Given the description of an element on the screen output the (x, y) to click on. 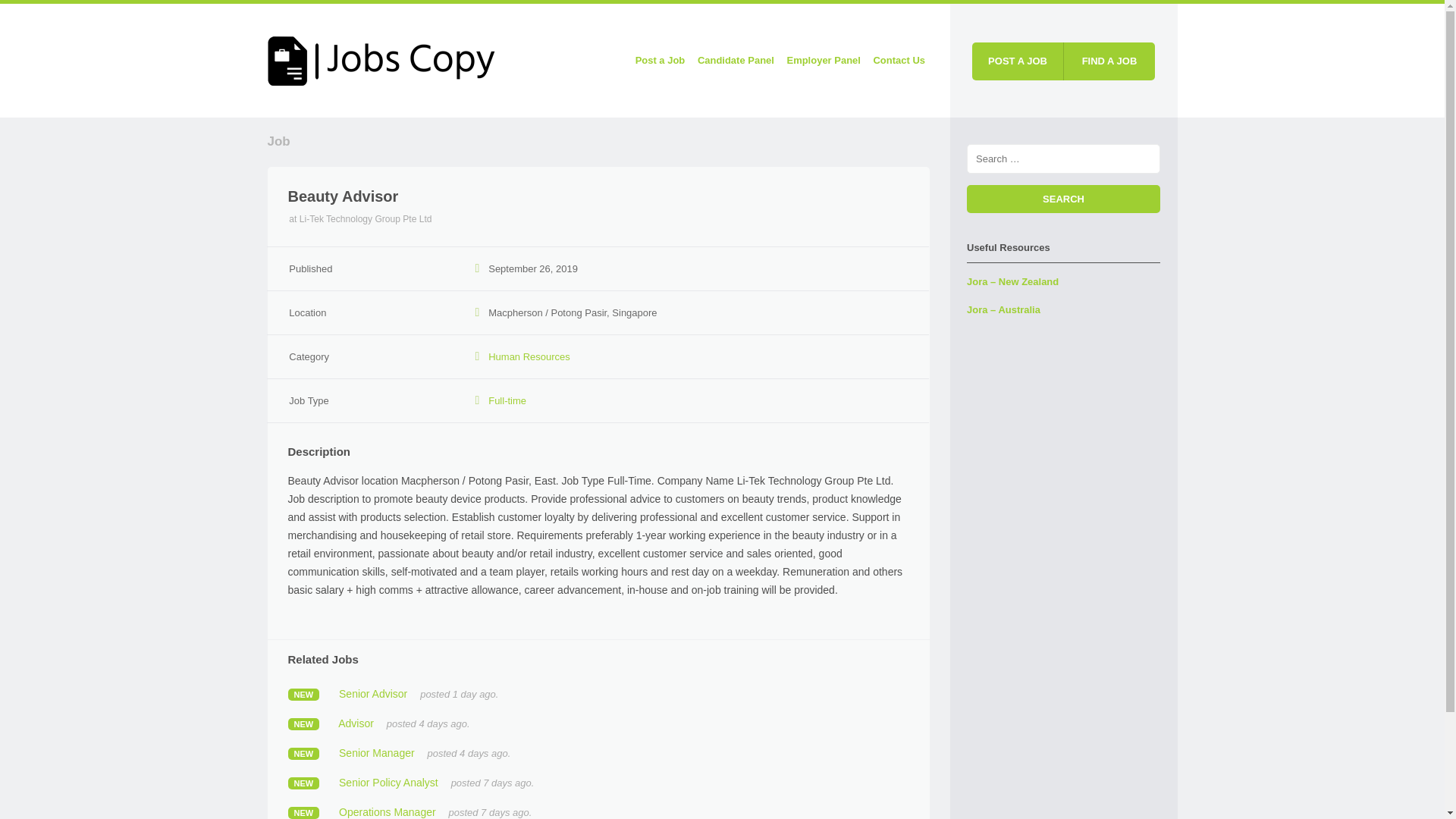
Candidate Panel (735, 60)
Full-time (506, 400)
Employer Panel (822, 60)
Jobs Copy (380, 58)
Senior Advisor (373, 693)
Advisor (355, 723)
Skip to content (587, 60)
Operations Manager (387, 811)
Post a Job (660, 60)
Senior Policy Analyst (388, 782)
